Given the description of an element on the screen output the (x, y) to click on. 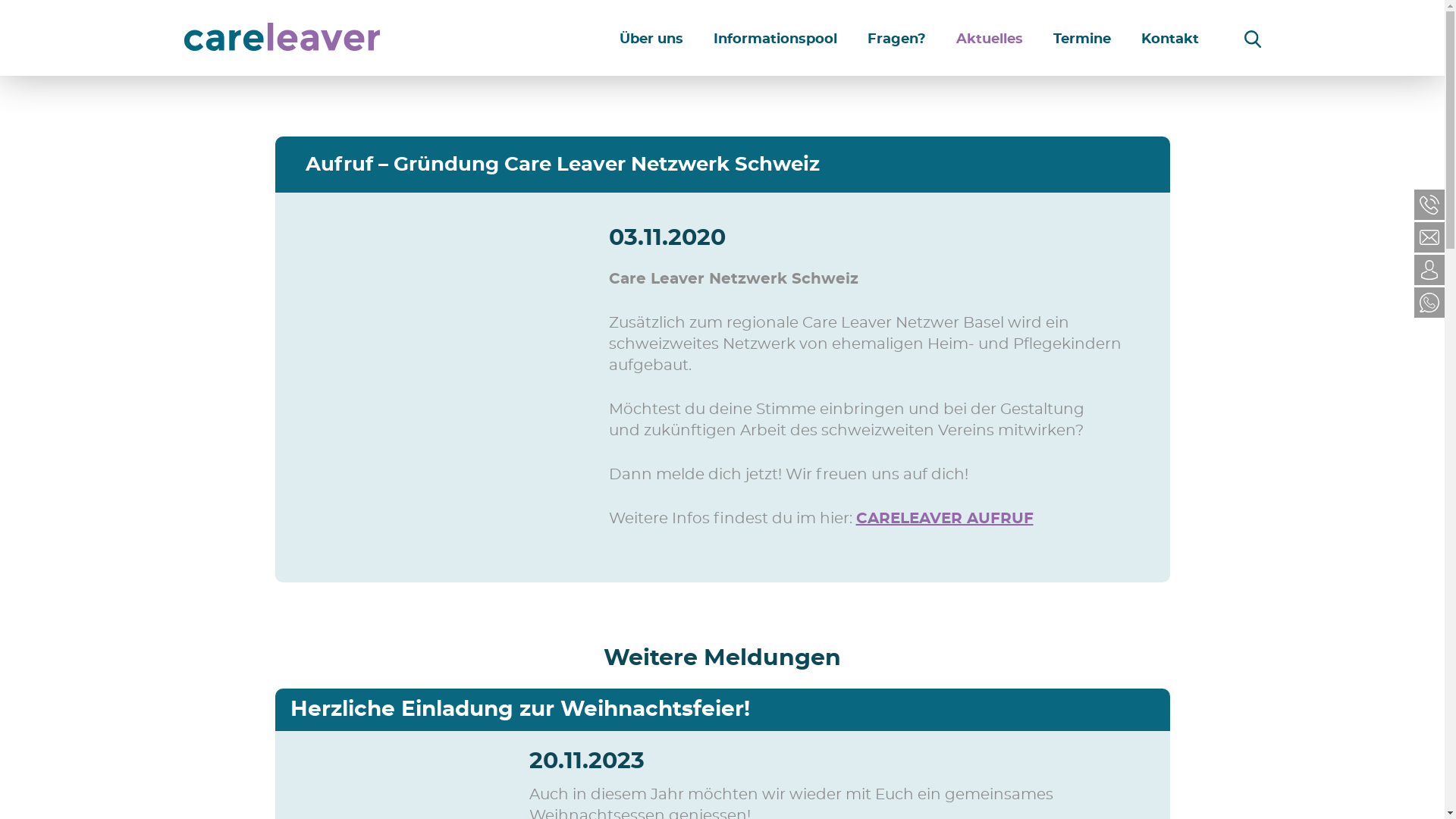
Careleaver Element type: hover (281, 46)
Aktuelles Element type: text (988, 39)
CARELEAVER AUFRUF Element type: text (943, 518)
Termine Element type: text (1081, 39)
Kontakt Element type: text (1169, 39)
Whatsapp Chat Element type: text (1429, 302)
Ruf uns an Element type: text (1429, 204)
Herzliche Einladung zur Weihnachtsfeier! Element type: text (519, 709)
Fragen? Element type: text (896, 39)
Schreibe uns eine Mail Element type: text (1429, 237)
Informationspool Element type: text (774, 39)
